Given the description of an element on the screen output the (x, y) to click on. 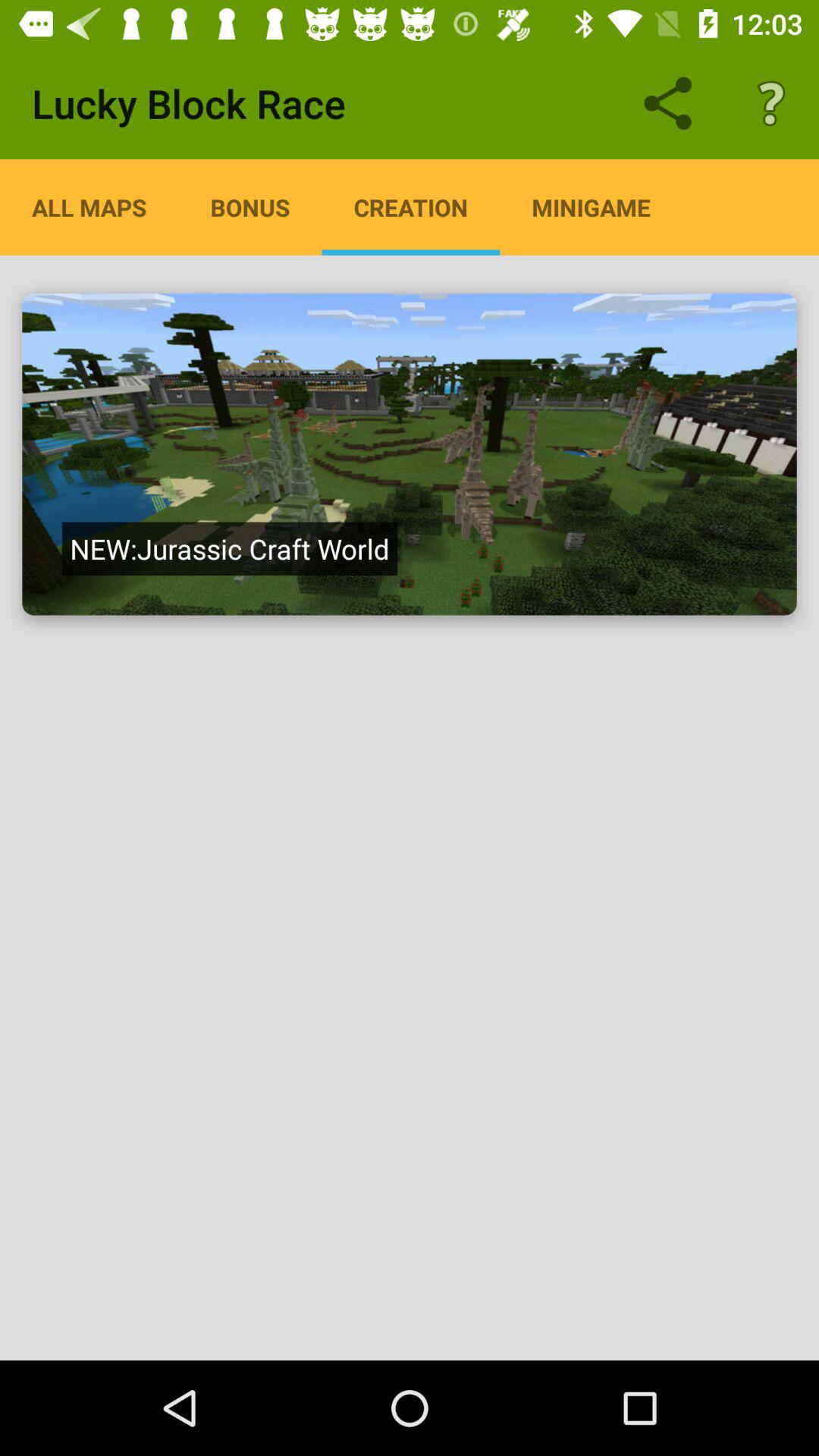
open icon next to all maps item (249, 207)
